Given the description of an element on the screen output the (x, y) to click on. 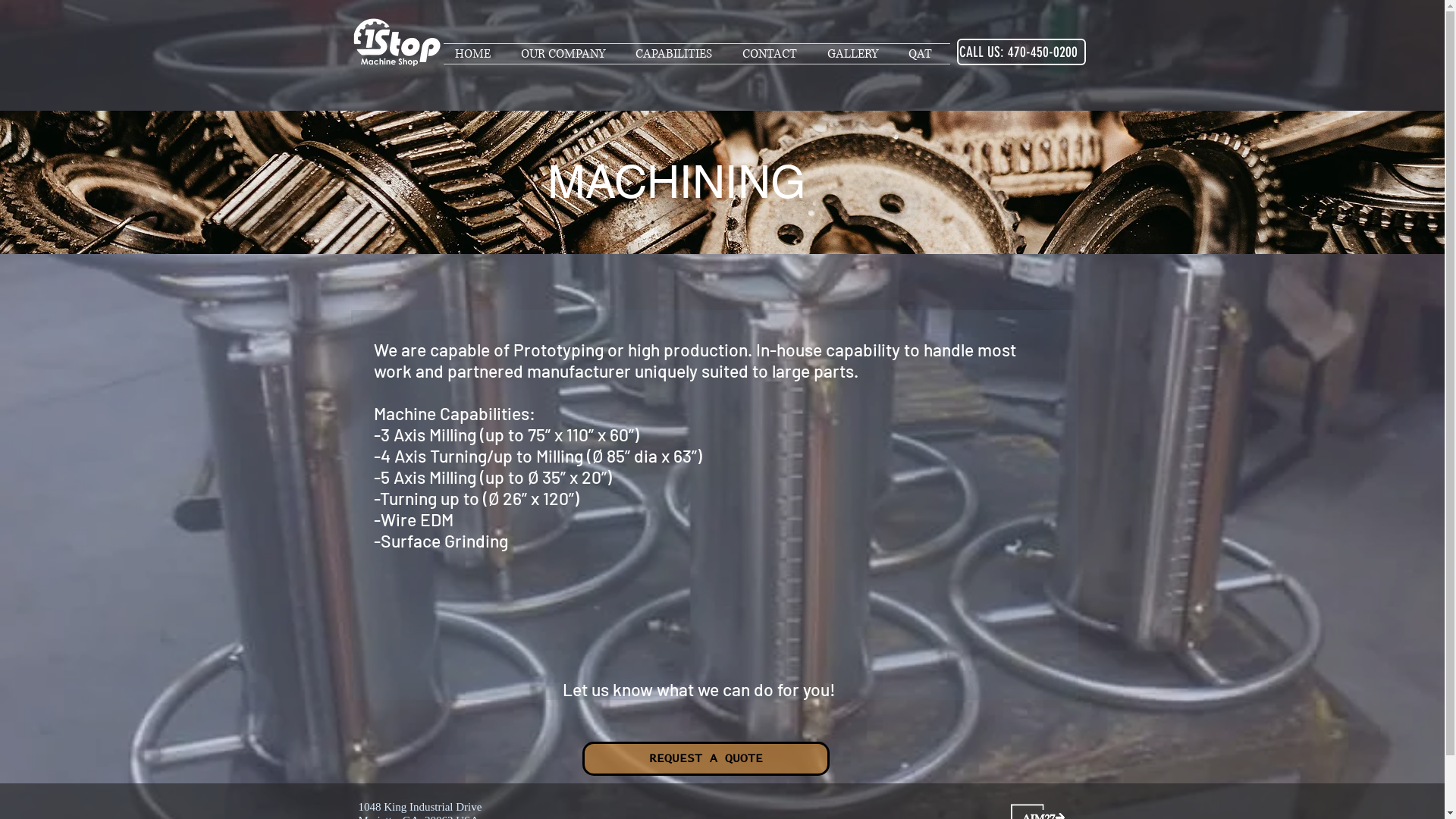
GALLERY Element type: text (856, 53)
HOME Element type: text (475, 53)
REQUEST A QUOTE Element type: text (705, 758)
QAT Element type: text (922, 53)
